Given the description of an element on the screen output the (x, y) to click on. 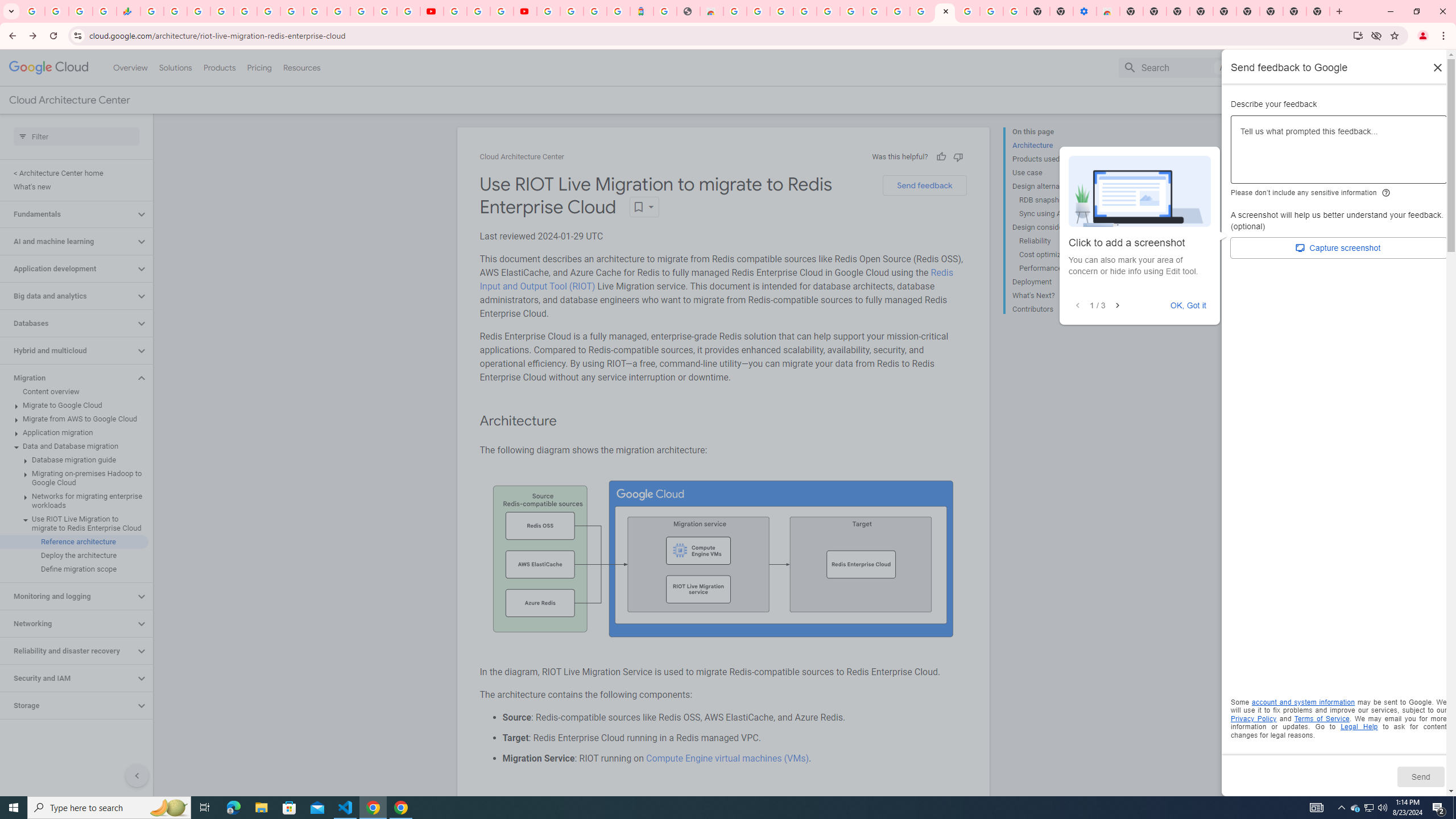
New Tab (1131, 11)
Create your Google Account (757, 11)
Privacy Checkup (408, 11)
Cloud Architecture Center (521, 156)
Networks for migrating enterprise workloads (74, 500)
Describe your feedback (1338, 153)
Architecture (1058, 145)
YouTube (314, 11)
Data and Database migration (74, 445)
Type to filter (76, 136)
Use case (1058, 172)
Reliability and disaster recovery (67, 650)
Install Google Cloud (1358, 35)
